Given the description of an element on the screen output the (x, y) to click on. 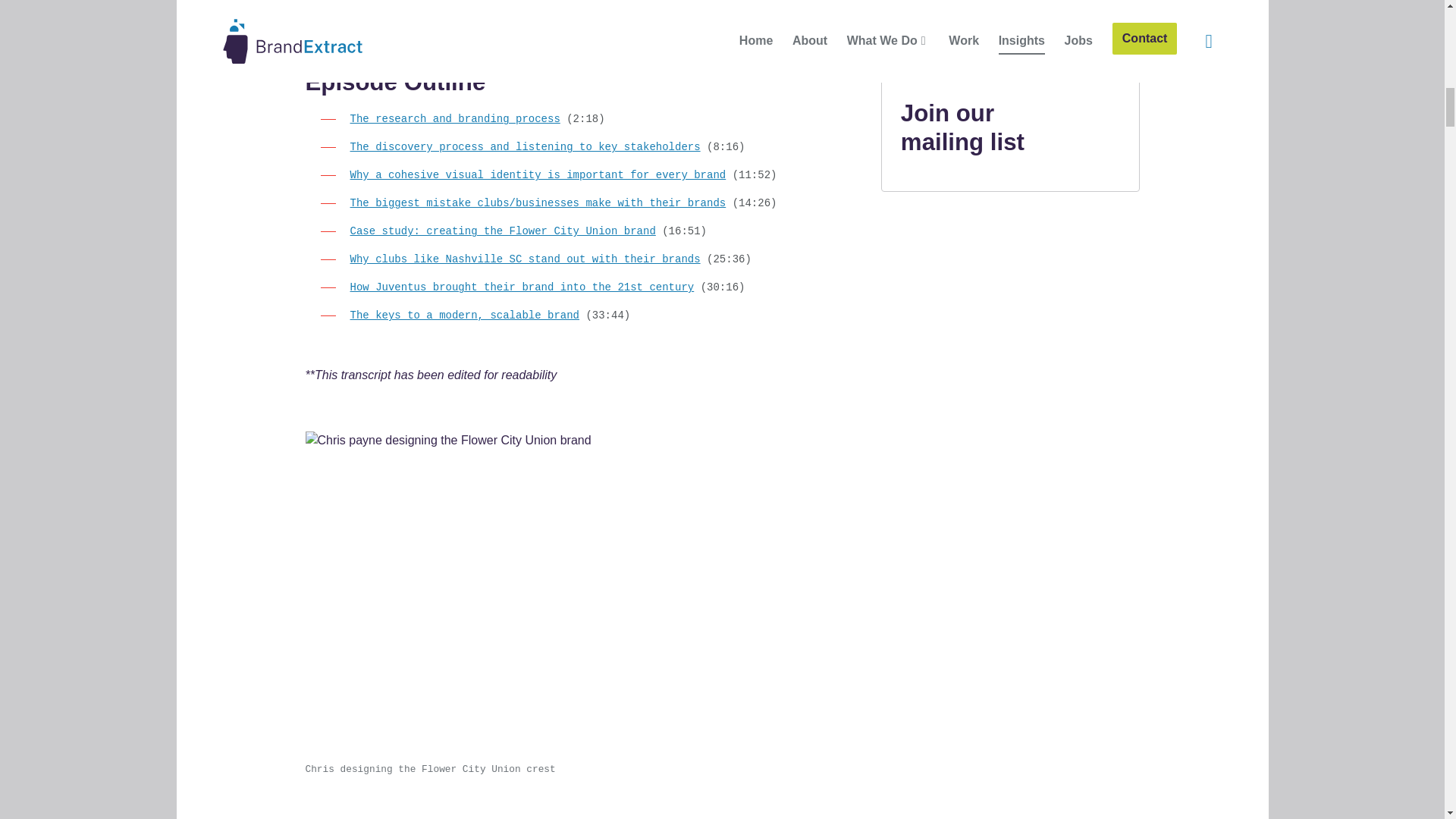
The keys to a modern, scalable brand (464, 315)
The discovery process and listening to key stakeholders (525, 146)
The research and branding process (455, 119)
Why a cohesive visual identity is important for every brand (538, 174)
How Juventus brought their brand into the 21st century (522, 287)
Why clubs like Nashville SC stand out with their brands (525, 259)
Case study: creating the Flower City Union brand (503, 231)
